Given the description of an element on the screen output the (x, y) to click on. 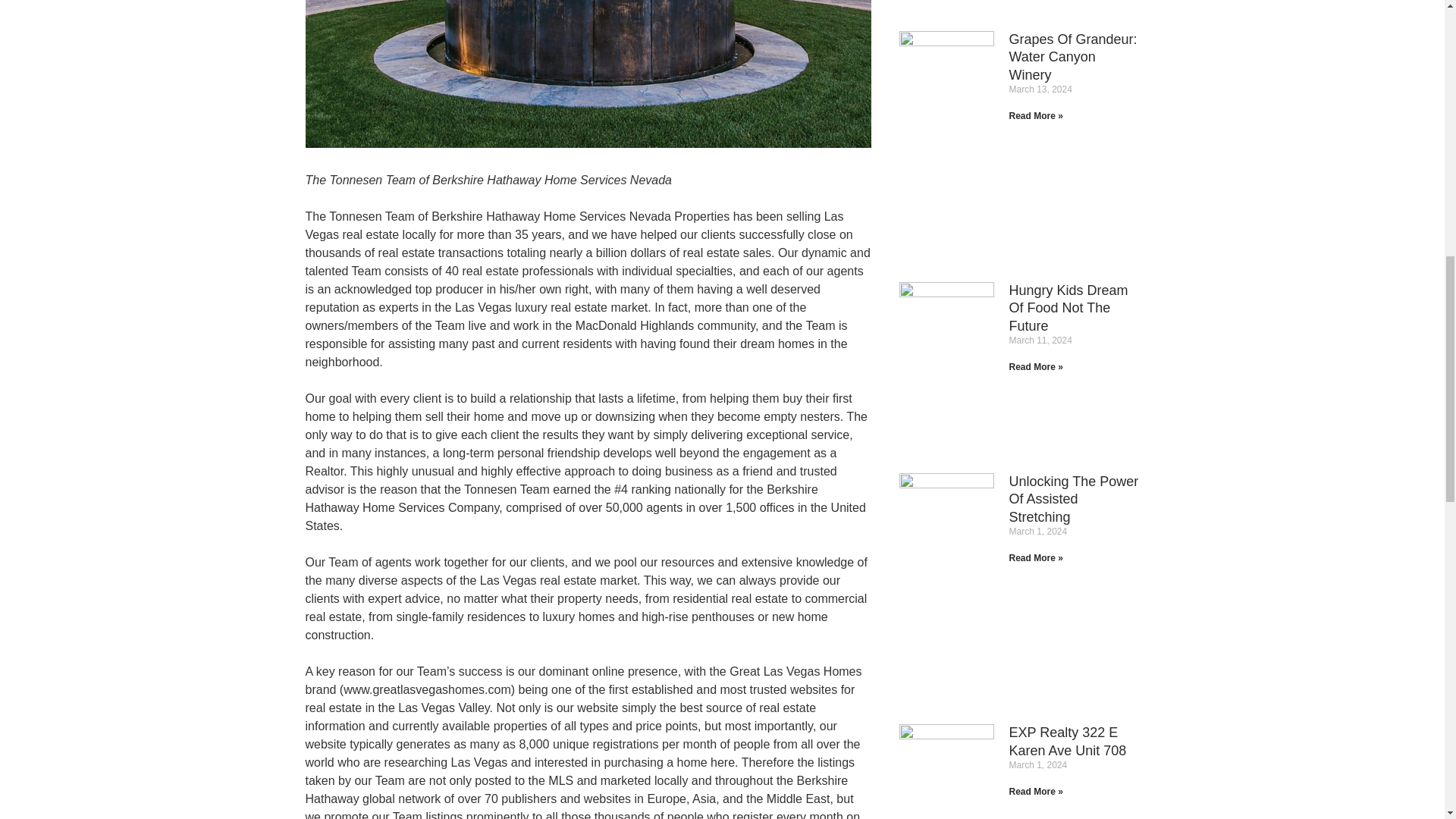
Grapes Of Grandeur: Water Canyon Winery (1073, 56)
